Given the description of an element on the screen output the (x, y) to click on. 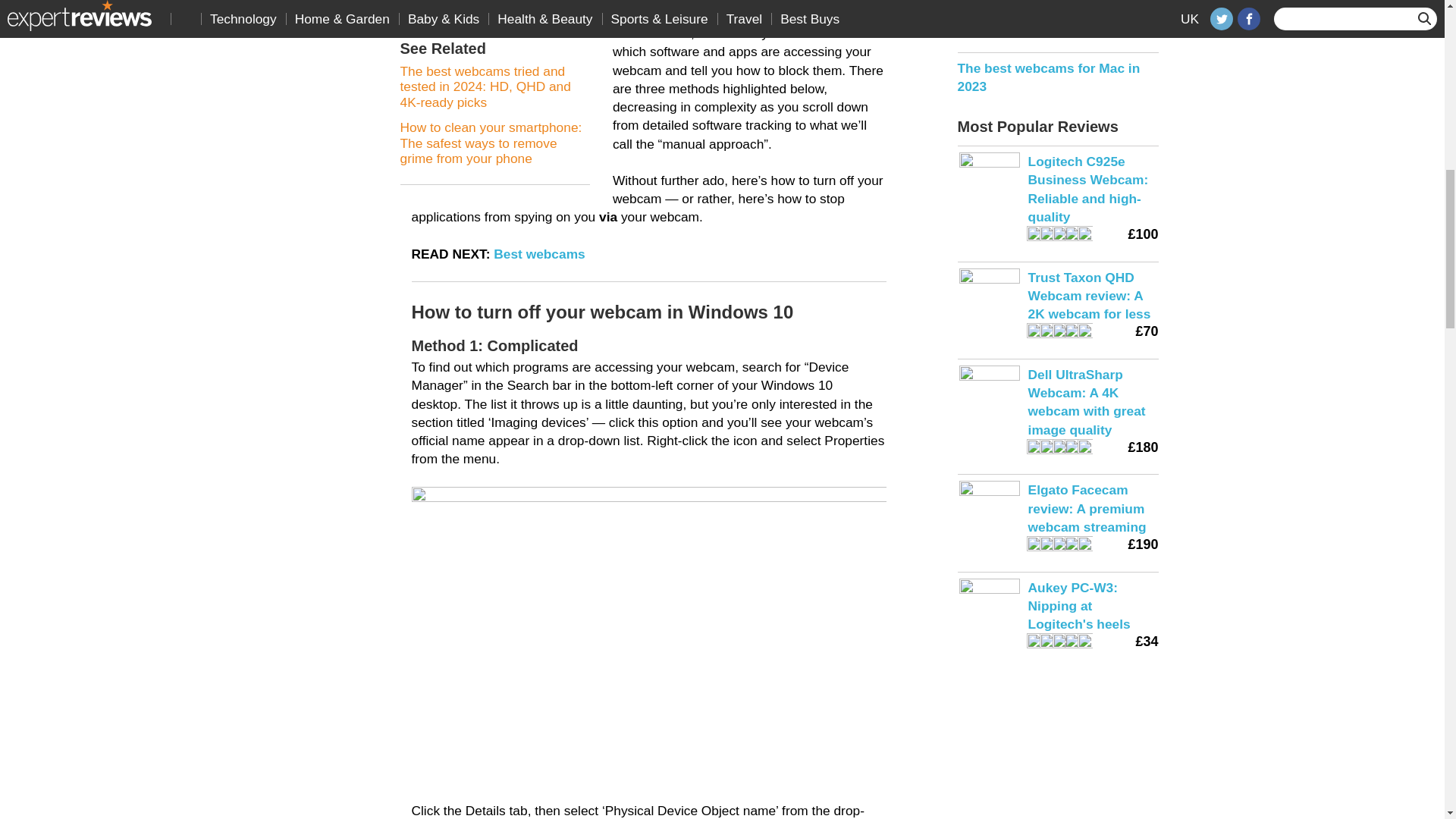
Best webcams (539, 253)
Best webcams (539, 253)
